Given the description of an element on the screen output the (x, y) to click on. 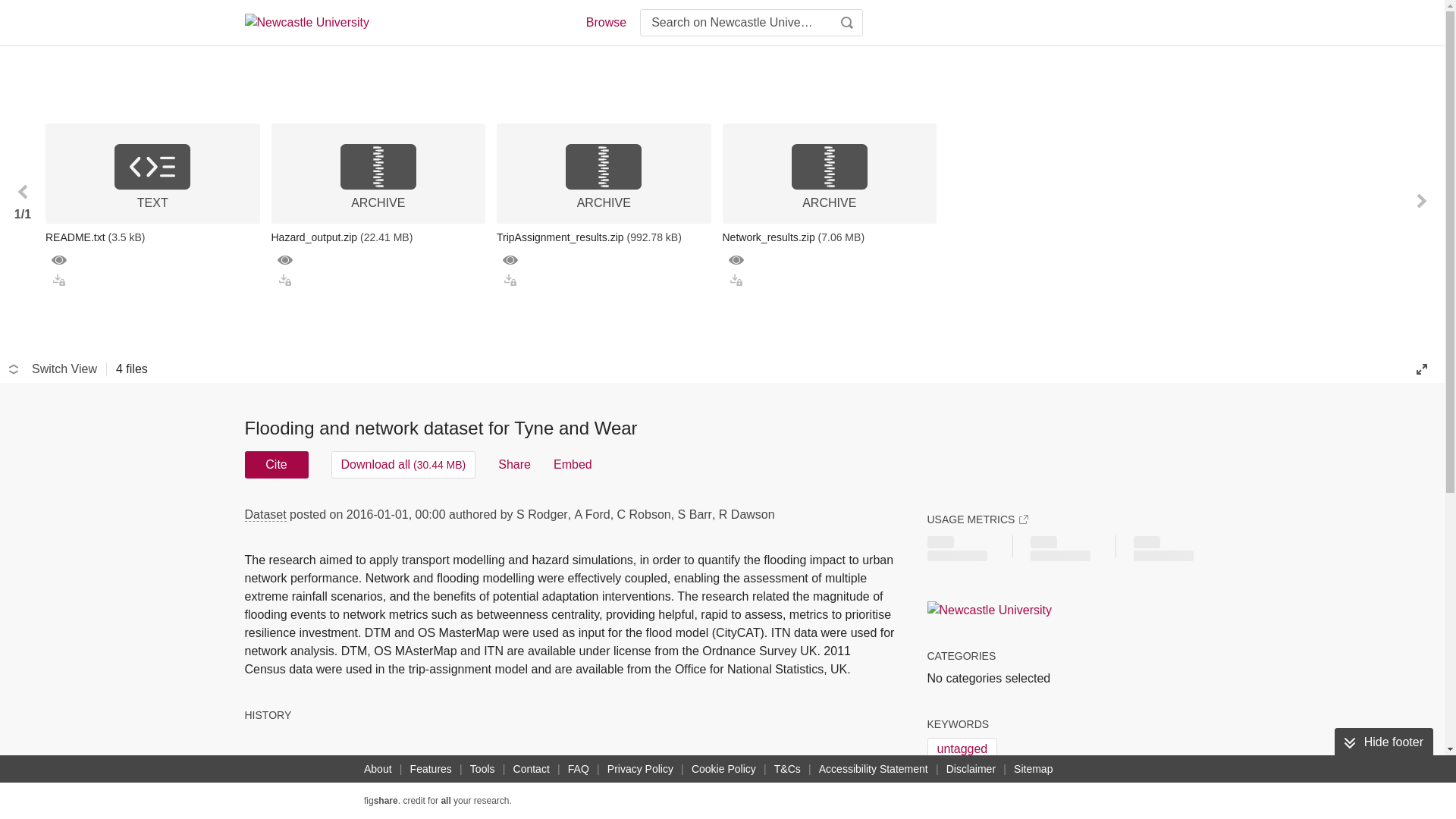
untagged (961, 748)
Hide footer (1383, 742)
Cite (275, 464)
USAGE METRICS (976, 519)
README.txt (152, 237)
Browse (605, 22)
Switch View (52, 369)
Embed (572, 464)
Share (514, 464)
